Given the description of an element on the screen output the (x, y) to click on. 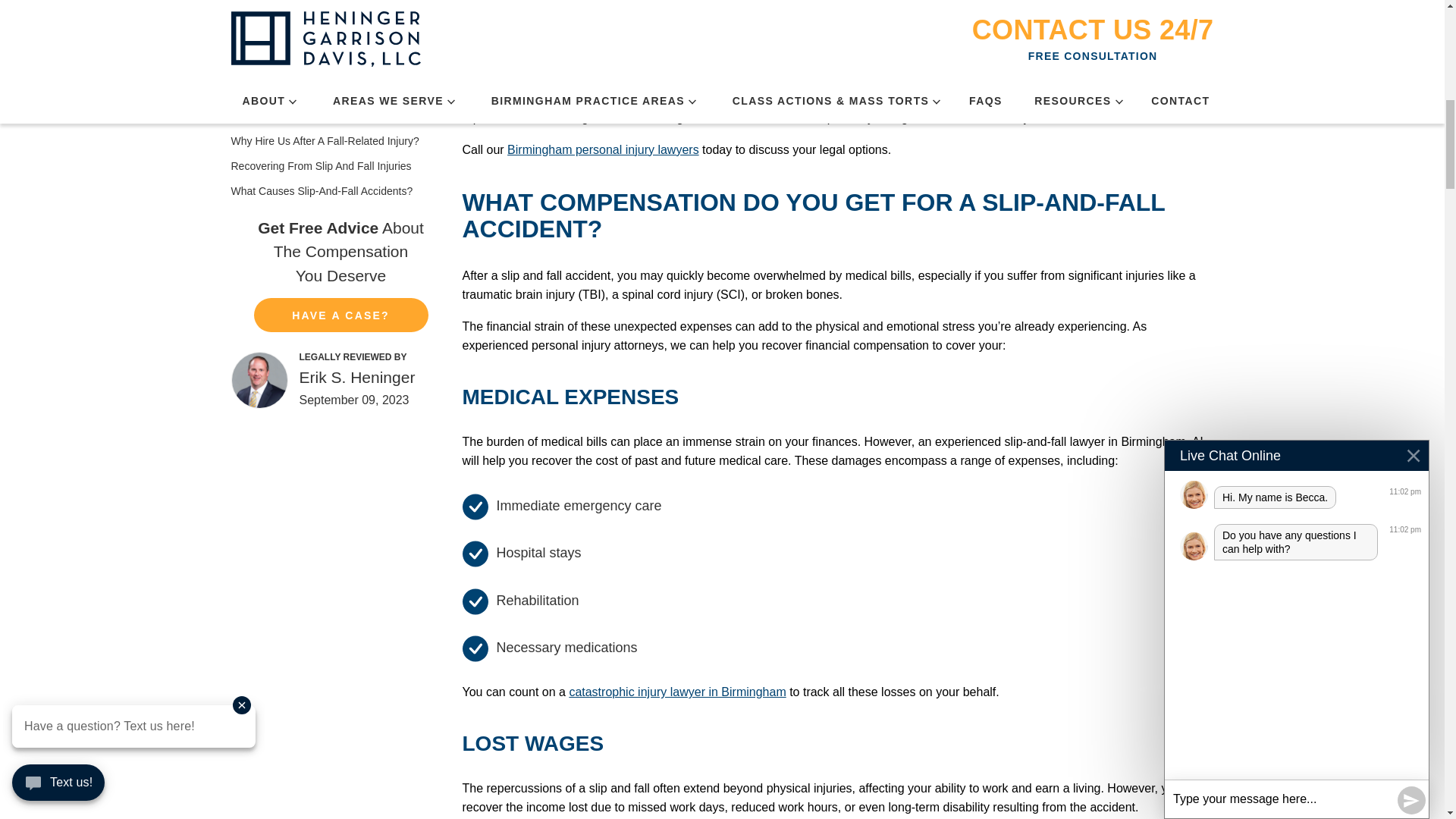
ERIK S. HENINGER (258, 379)
Who Has To Cover Your Losses After A Fall? (339, 115)
What Causes Slip-And-Fall Accidents? (339, 191)
Can A Lawyer Help After A Fatal Fall Accident? (339, 90)
Have a case? (340, 315)
Recovering From Slip And Fall Injuries (339, 165)
What Compensation Do You Get For A Slip-And-Fall Accident? (339, 58)
Why Hire Us After A Fall-Related Injury? (339, 141)
